Given the description of an element on the screen output the (x, y) to click on. 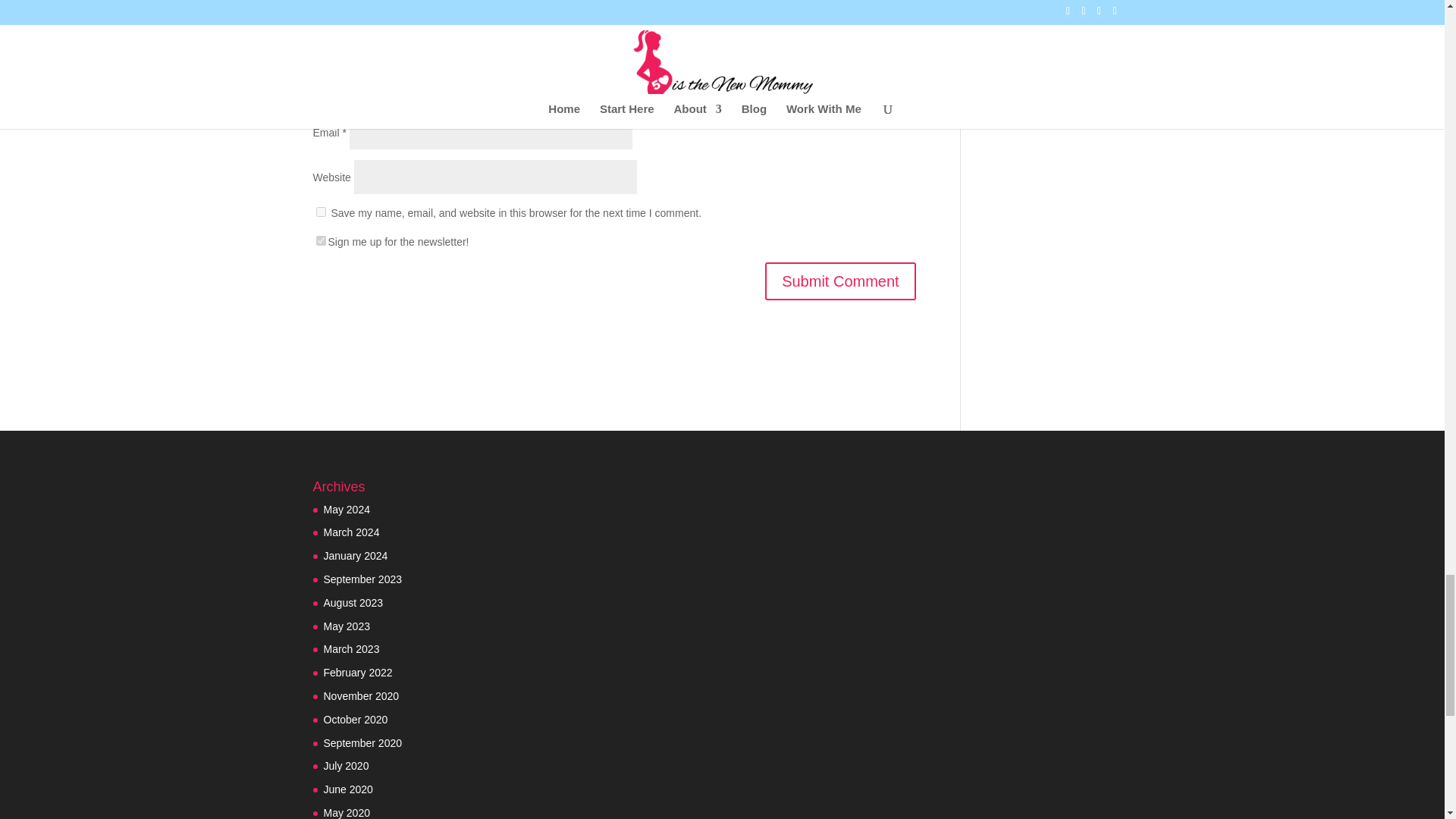
Submit Comment (840, 281)
yes (319, 212)
1 (319, 240)
Submit Comment (840, 281)
